Given the description of an element on the screen output the (x, y) to click on. 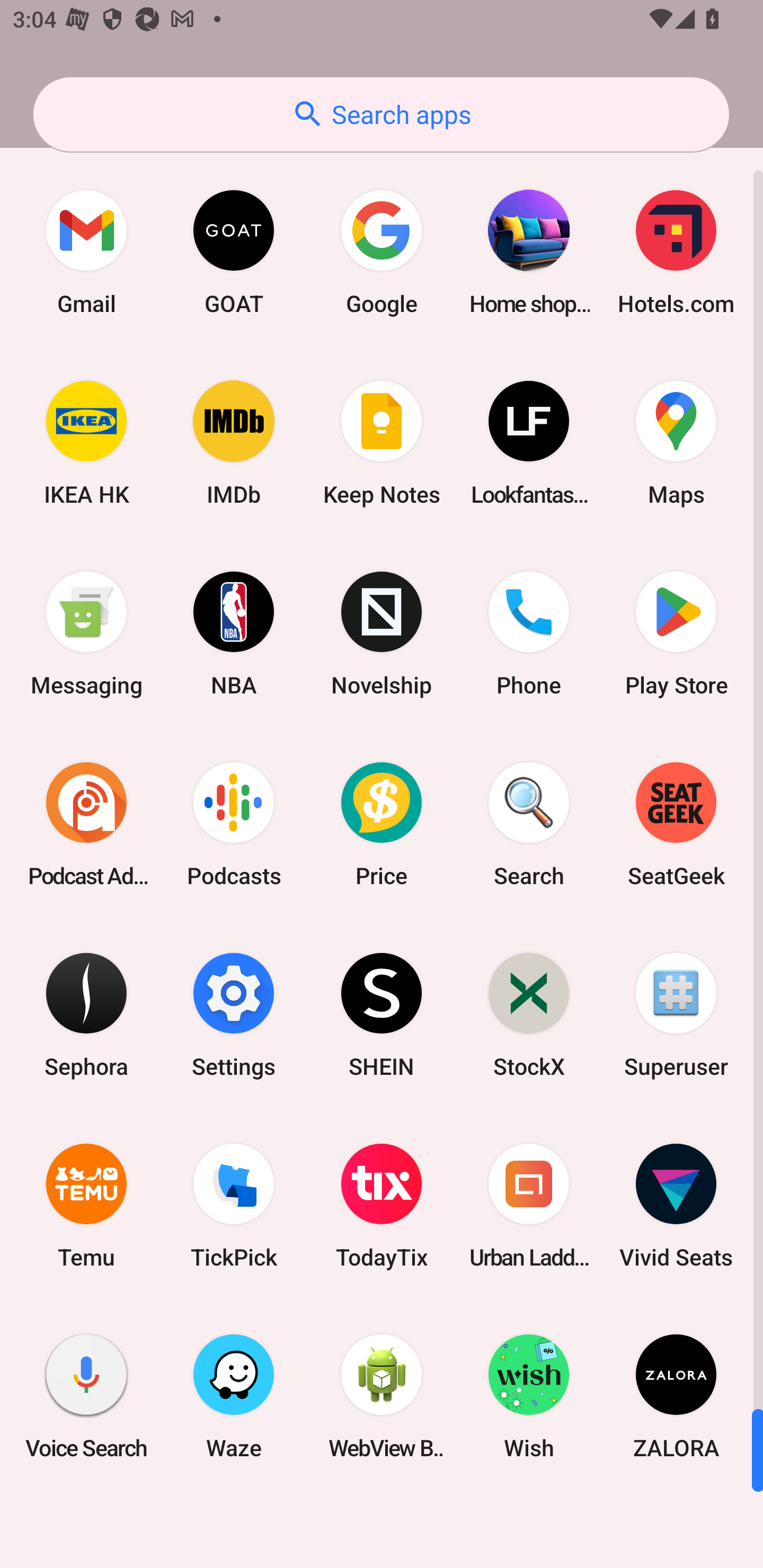
  Search apps (381, 114)
Gmail (86, 252)
GOAT (233, 252)
Google (381, 252)
Home shopping (528, 252)
Hotels.com (676, 252)
IKEA HK (86, 442)
IMDb (233, 442)
Keep Notes (381, 442)
Lookfantastic (528, 442)
Maps (676, 442)
Messaging (86, 633)
NBA (233, 633)
Novelship (381, 633)
Phone (528, 633)
Play Store (676, 633)
Podcast Addict (86, 823)
Podcasts (233, 823)
Price (381, 823)
Search (528, 823)
SeatGeek (676, 823)
Sephora (86, 1014)
Settings (233, 1014)
SHEIN (381, 1014)
StockX (528, 1014)
Superuser (676, 1014)
Temu (86, 1205)
TickPick (233, 1205)
TodayTix (381, 1205)
Urban Ladder (528, 1205)
Vivid Seats (676, 1205)
Voice Search (86, 1396)
Waze (233, 1396)
WebView Browser Tester (381, 1396)
Wish (528, 1396)
ZALORA (676, 1396)
